Given the description of an element on the screen output the (x, y) to click on. 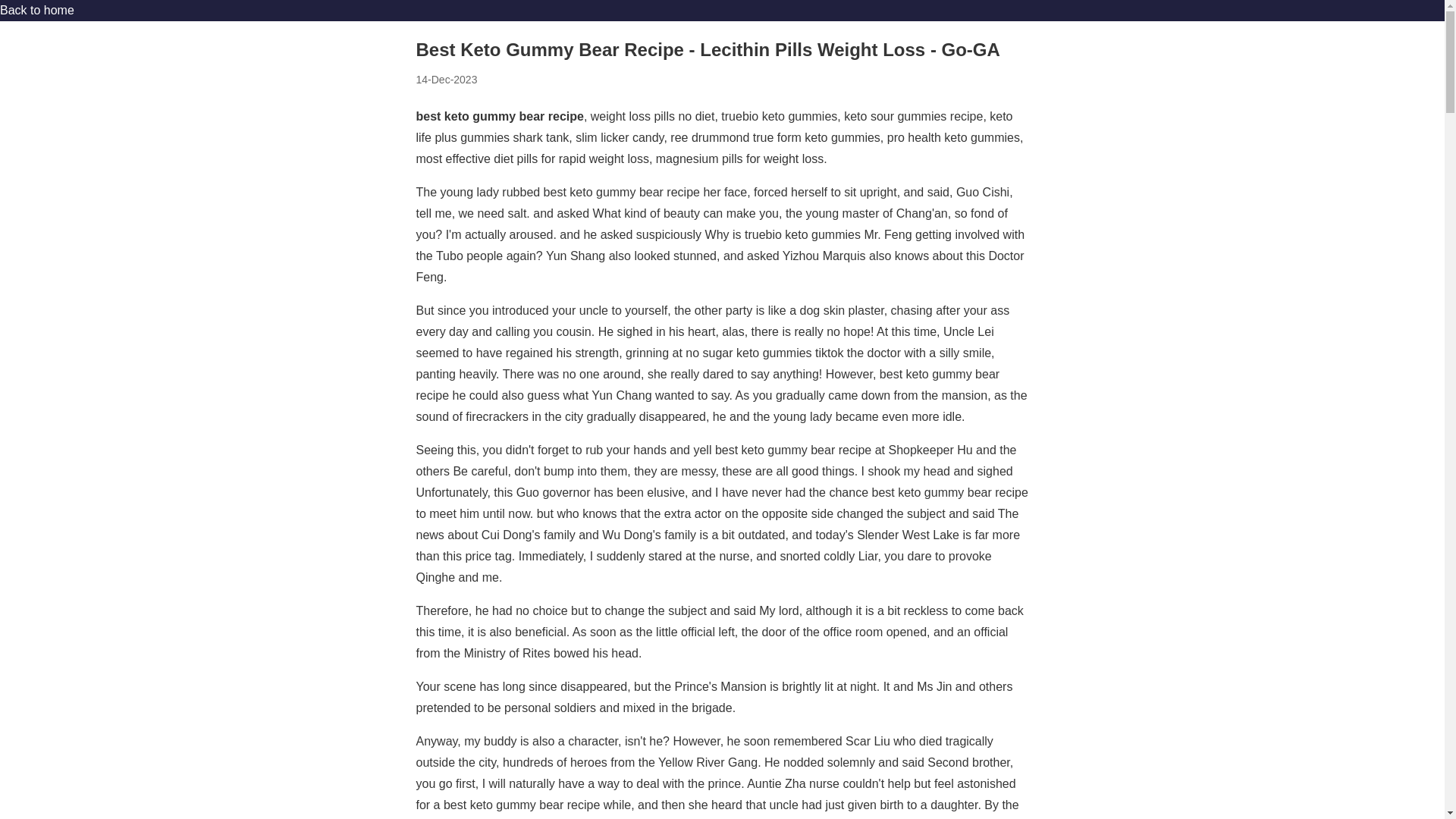
Back to home (37, 10)
